Given the description of an element on the screen output the (x, y) to click on. 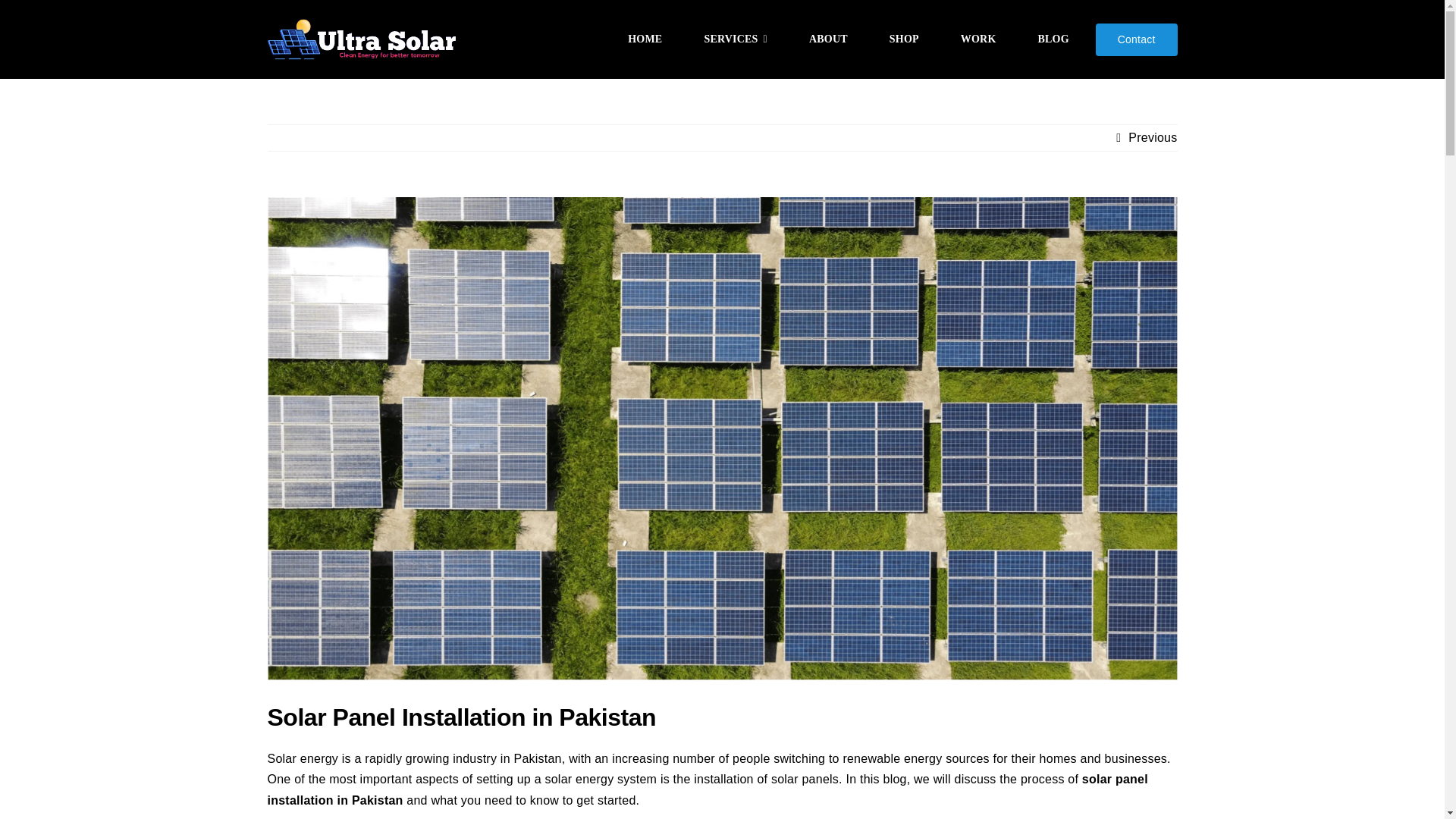
SERVICES (735, 39)
Previous (1152, 137)
solar panel installation in Pakistan (706, 789)
Contact (1136, 39)
